Given the description of an element on the screen output the (x, y) to click on. 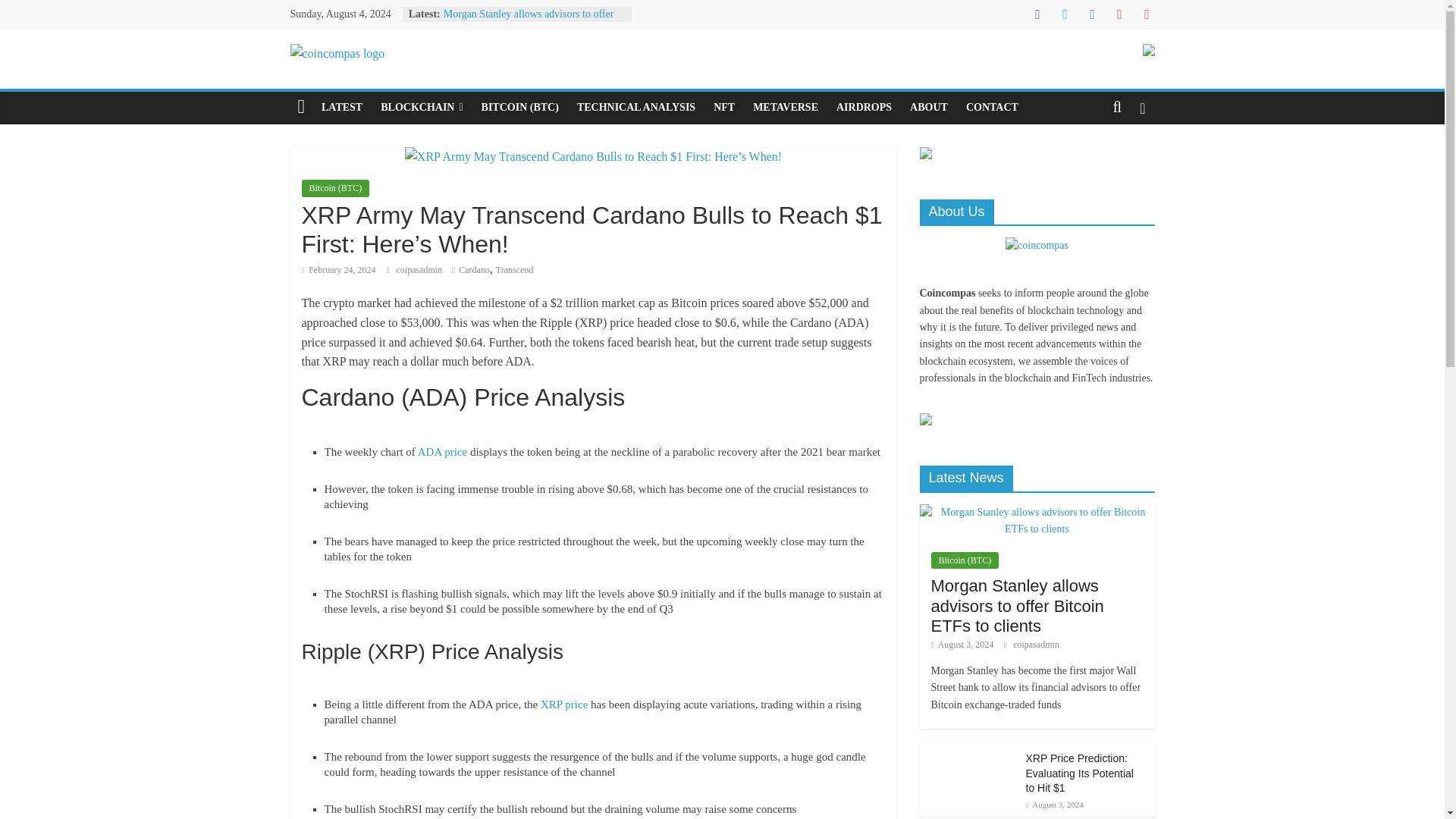
NFT (724, 107)
coipasadmin (420, 269)
Cardano (473, 269)
Transcend (515, 269)
LATEST (342, 107)
METAVERSE (785, 107)
February 24, 2024 (338, 269)
CONTACT (991, 107)
ABOUT (928, 107)
coipasadmin (420, 269)
AIRDROPS (864, 107)
TECHNICAL ANALYSIS (635, 107)
6:21 pm (338, 269)
